Given the description of an element on the screen output the (x, y) to click on. 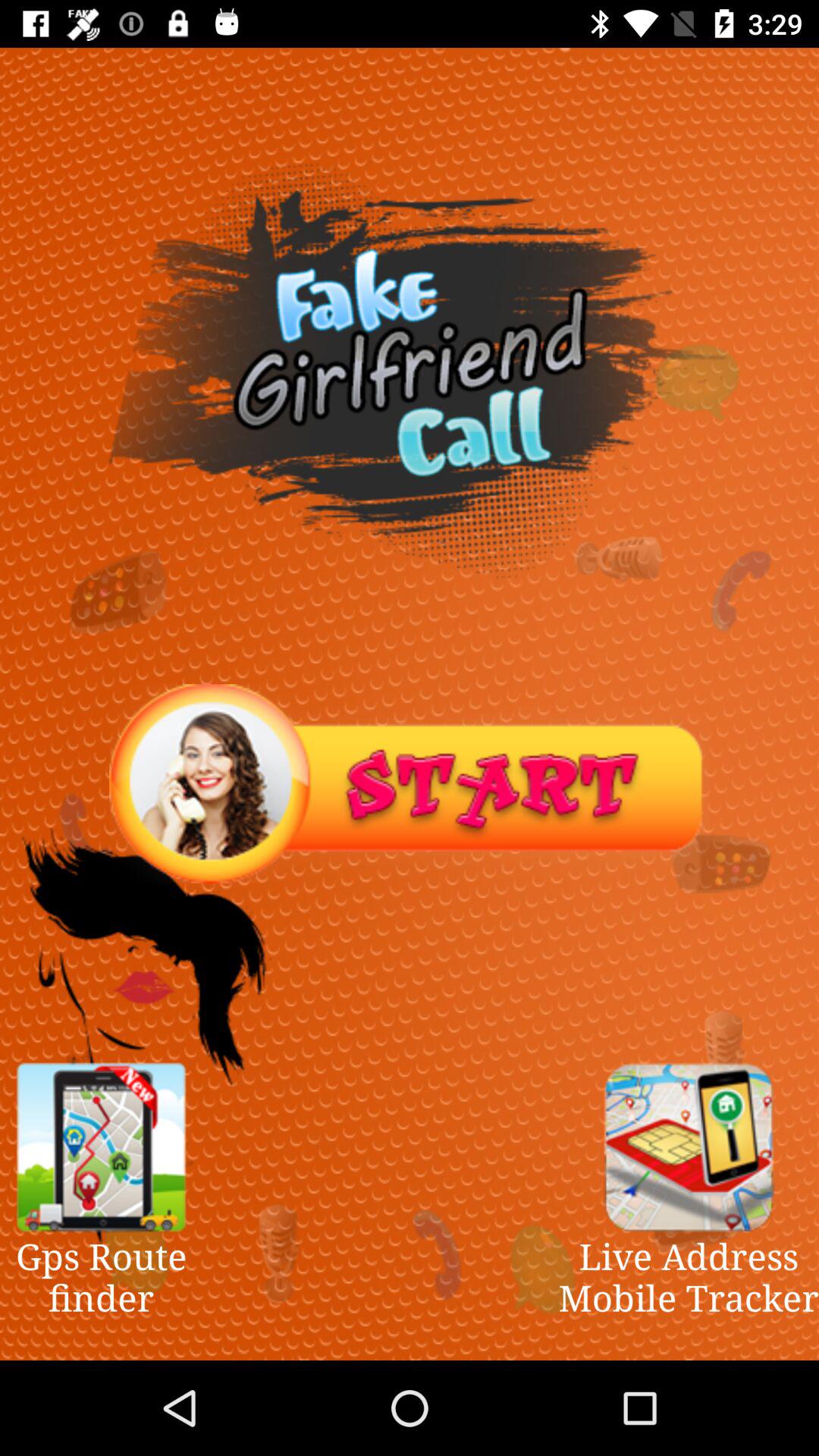
see advertisement (688, 1146)
